Given the description of an element on the screen output the (x, y) to click on. 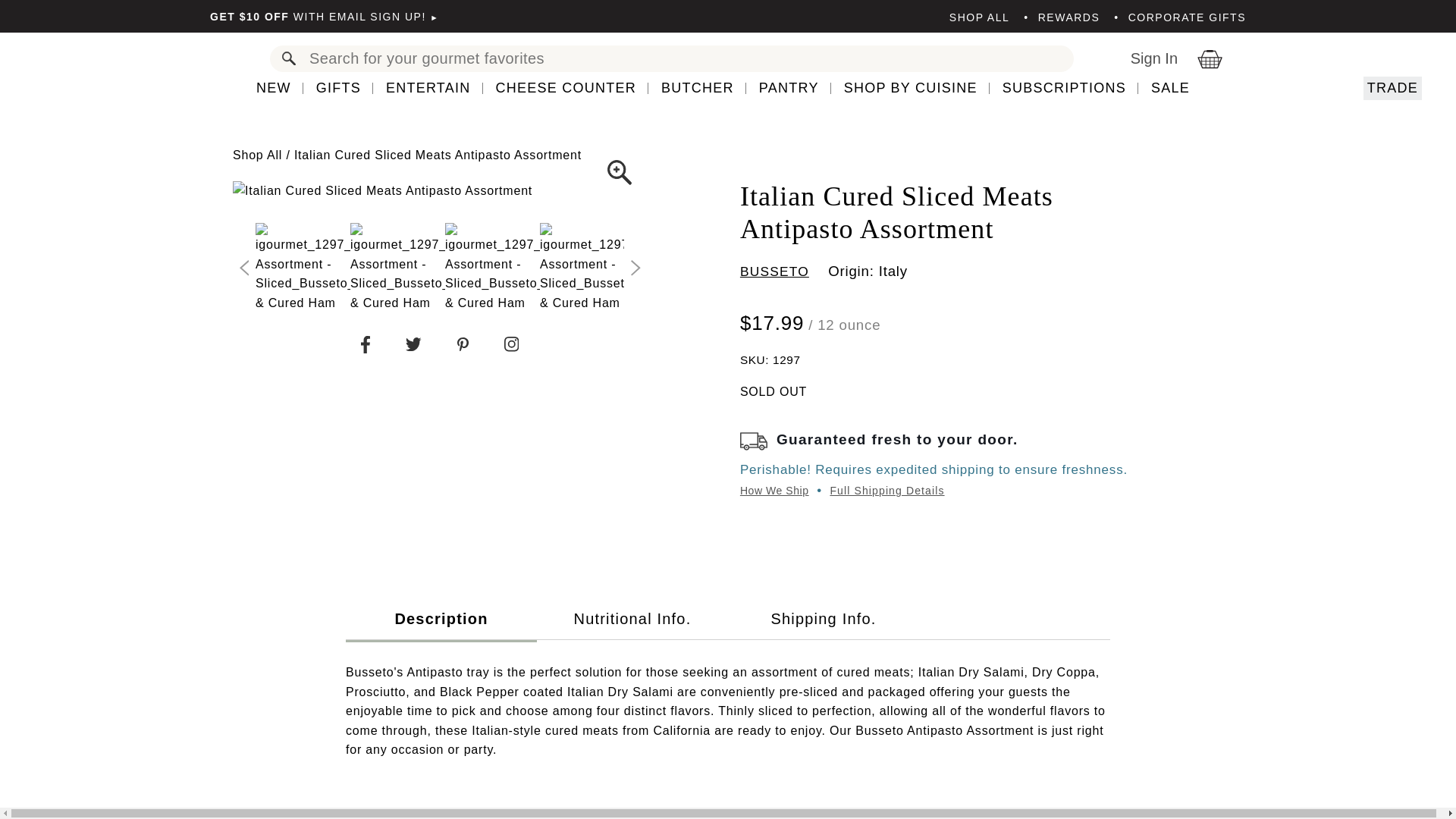
REWARDS (1061, 17)
SHOP ALL (979, 17)
Shop All (257, 154)
Cart (1221, 58)
GIFTS (338, 88)
NEW (279, 88)
CORPORATE GIFTS (1179, 17)
Sign In (1157, 58)
